Given the description of an element on the screen output the (x, y) to click on. 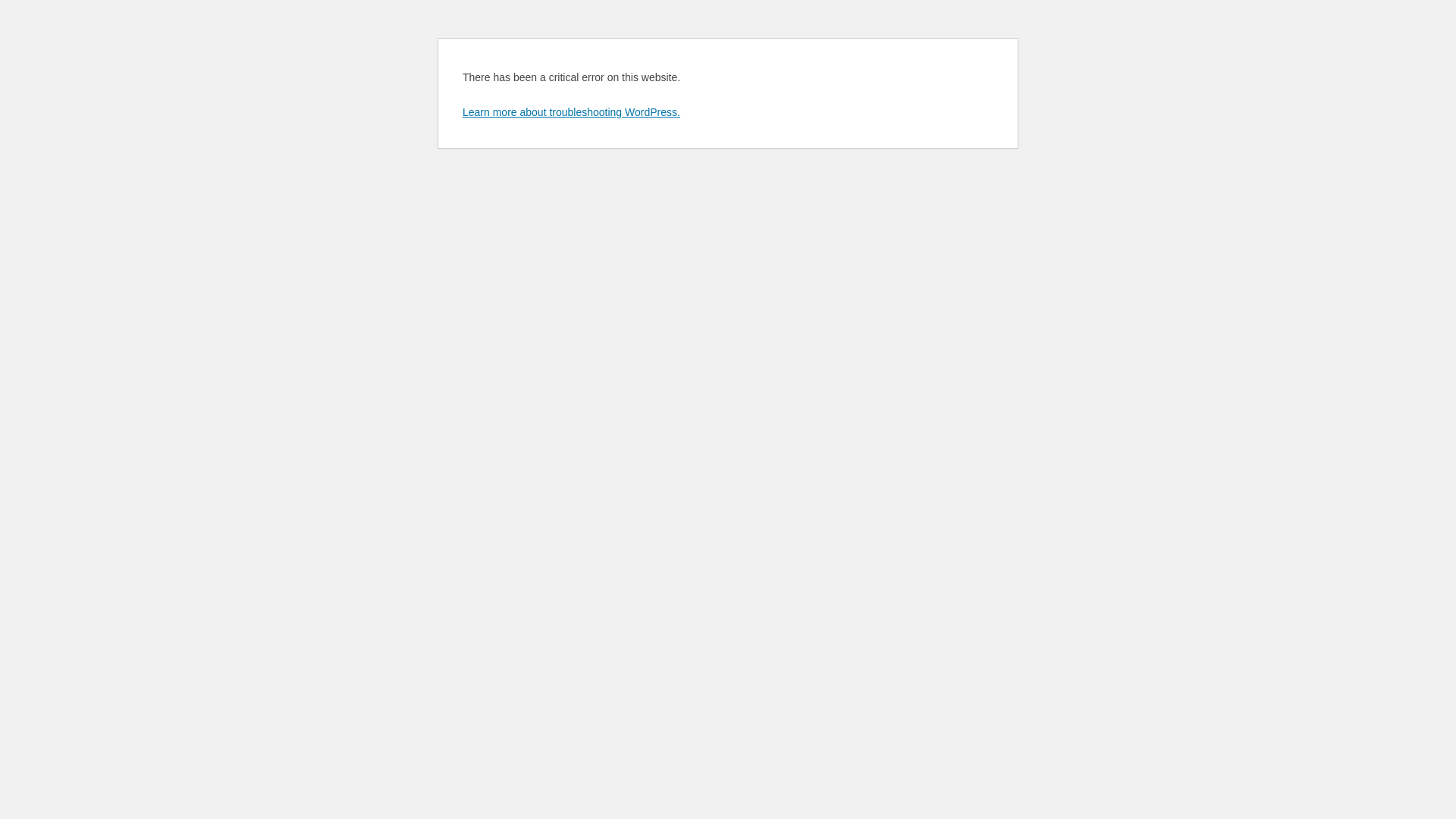
Learn more about troubleshooting WordPress. Element type: text (571, 112)
